Given the description of an element on the screen output the (x, y) to click on. 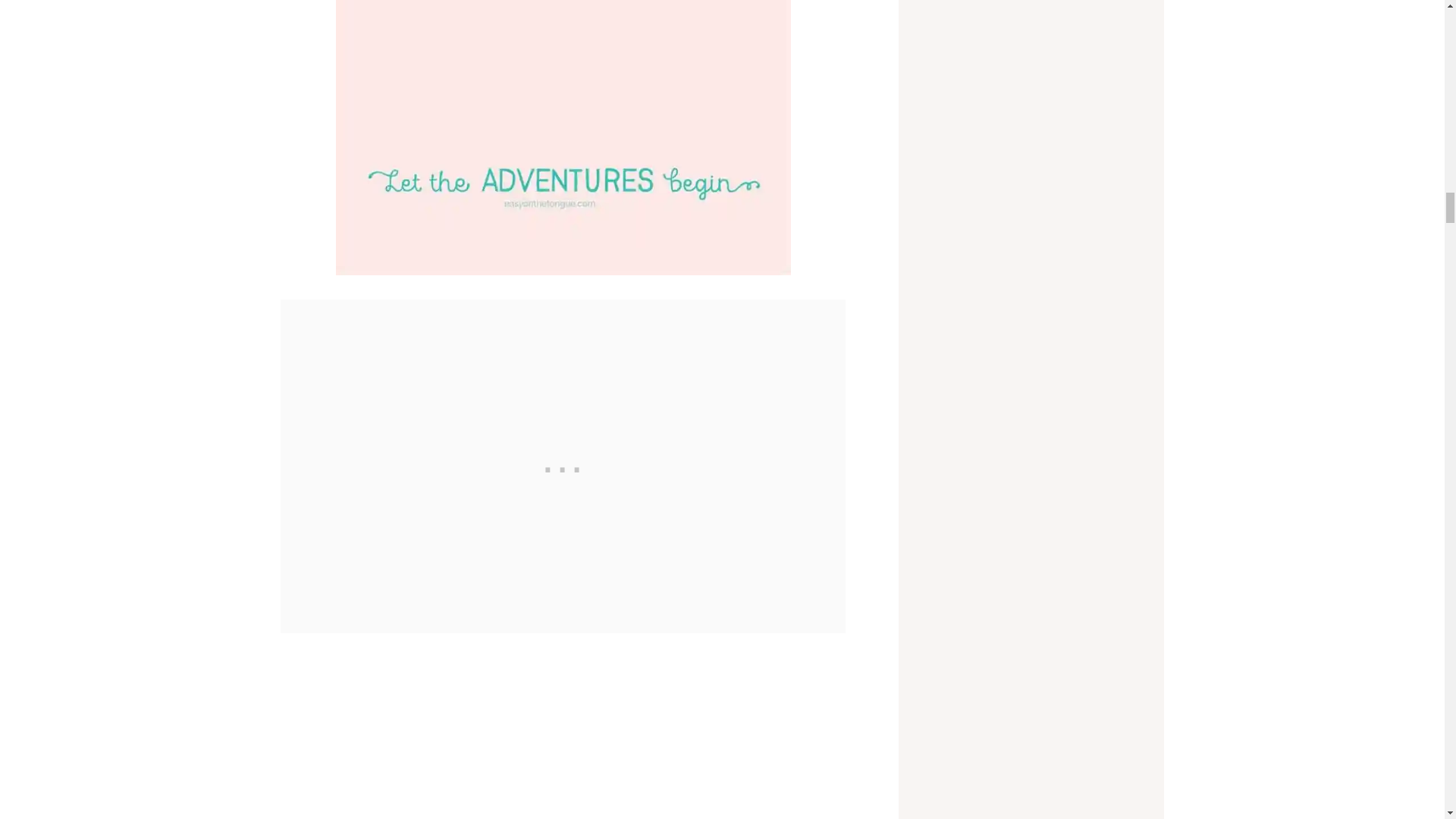
Wise Word Quotes - Reading (562, 137)
